Given the description of an element on the screen output the (x, y) to click on. 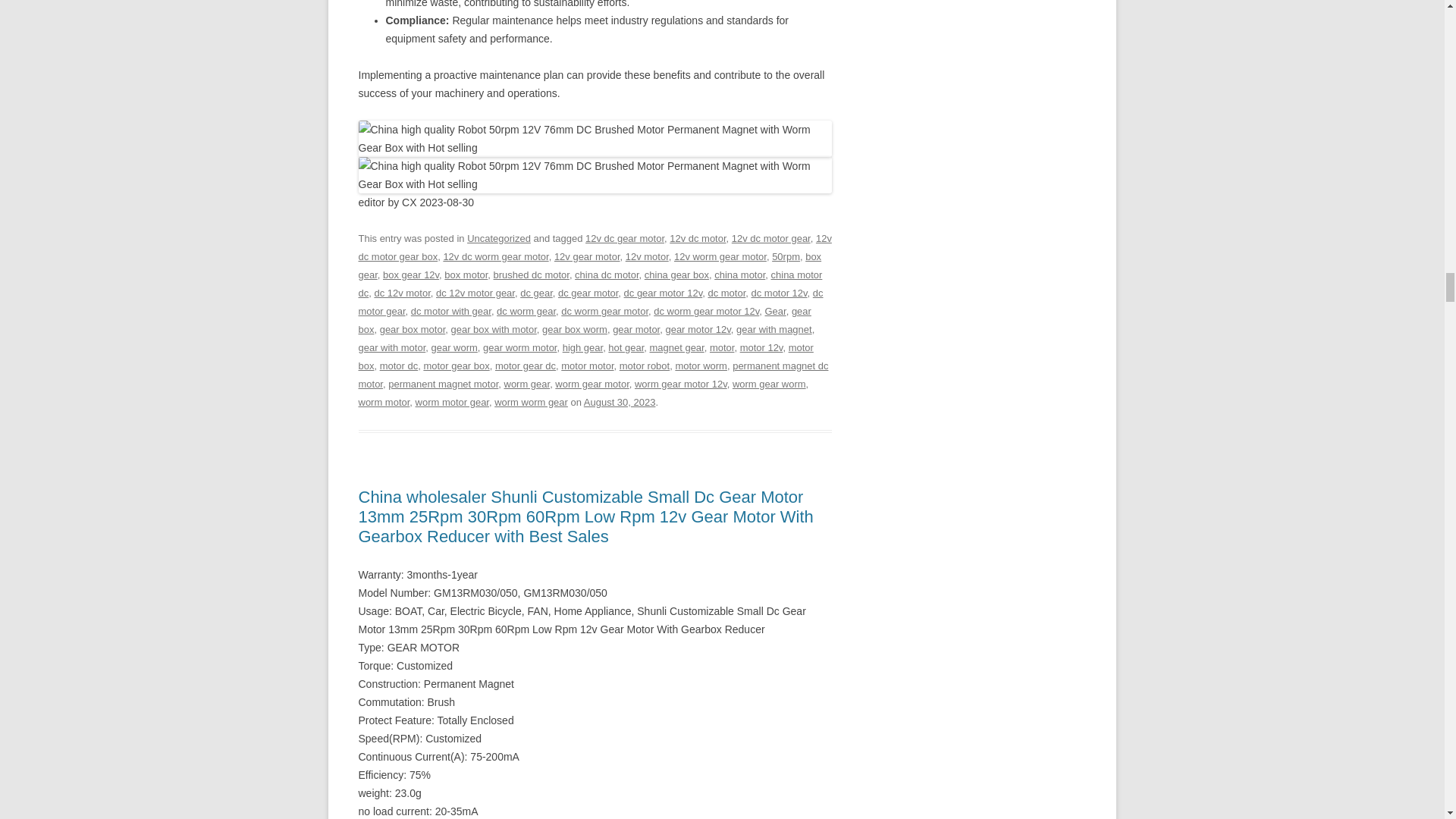
6:45 am (619, 401)
